Given the description of an element on the screen output the (x, y) to click on. 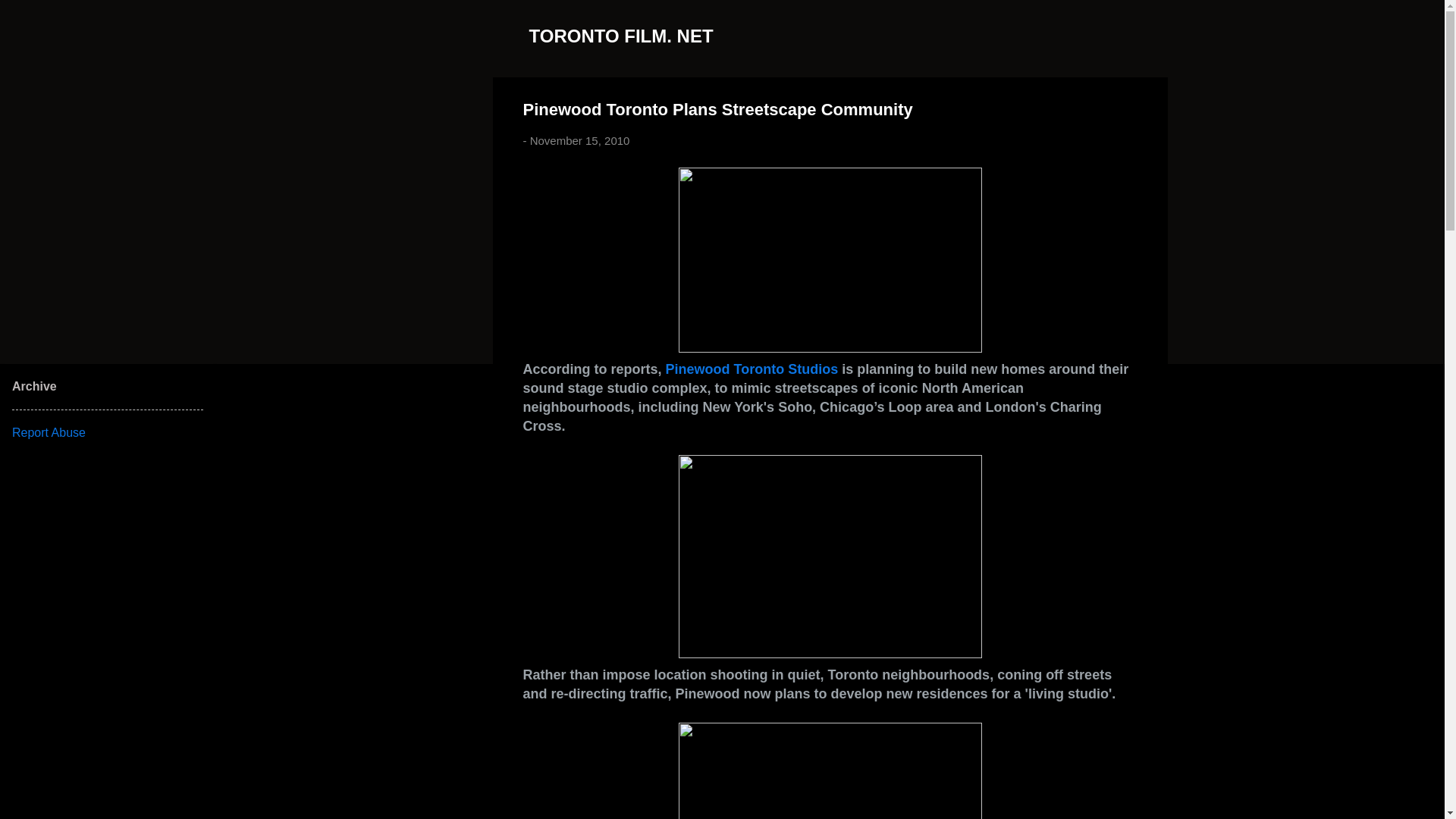
November 15, 2010 (579, 140)
Search (29, 18)
permanent link (579, 140)
Pinewood Toronto Studios (751, 368)
TORONTO FILM. NET (621, 35)
